Given the description of an element on the screen output the (x, y) to click on. 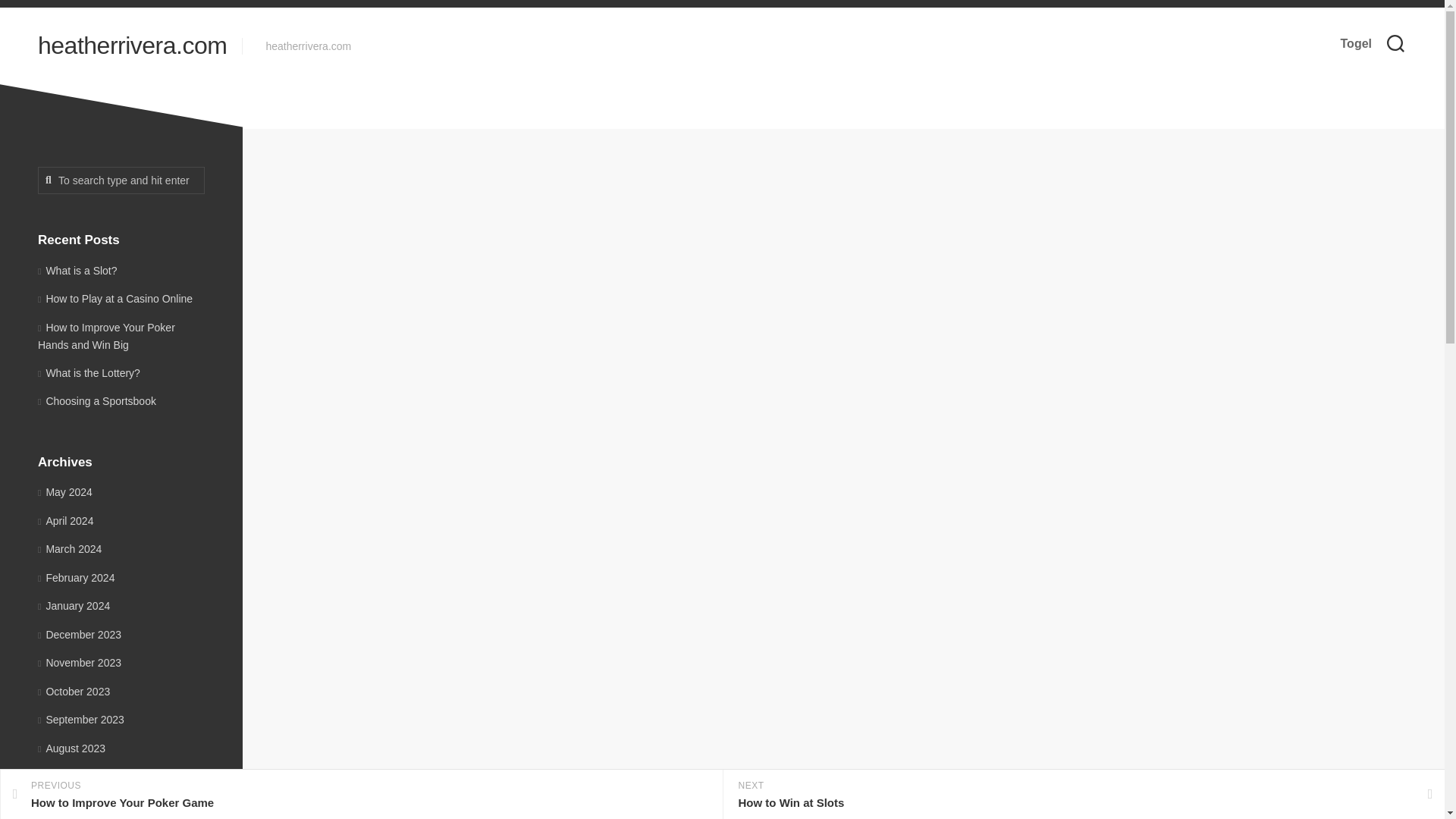
February 2024 (76, 577)
How to Improve Your Poker Hands and Win Big (105, 336)
March 2024 (361, 794)
October 2023 (69, 548)
November 2023 (73, 691)
January 2024 (78, 662)
heatherrivera.com (73, 605)
August 2023 (132, 44)
Togel (70, 747)
